Given the description of an element on the screen output the (x, y) to click on. 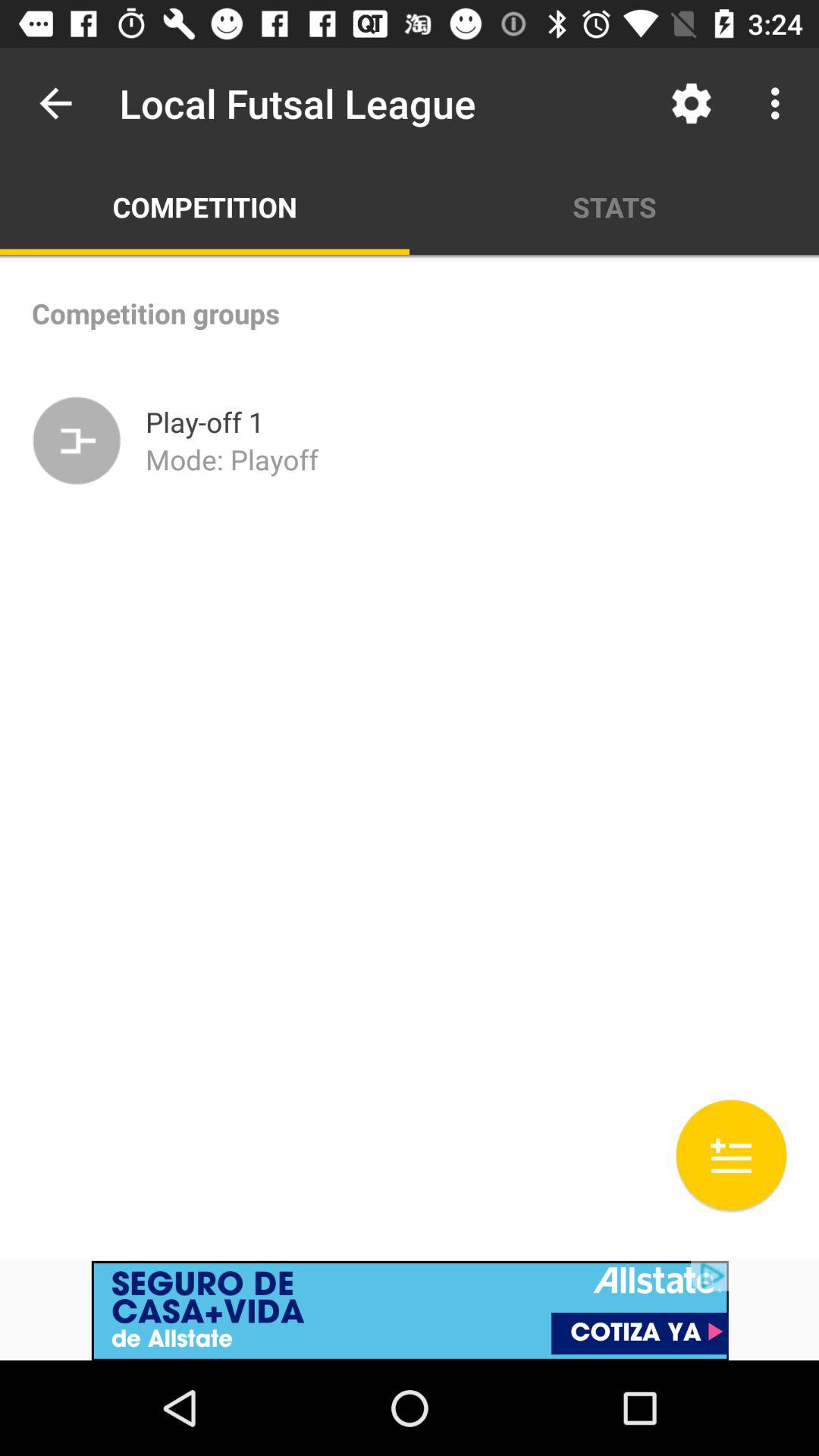
view advertisement (409, 1310)
